Given the description of an element on the screen output the (x, y) to click on. 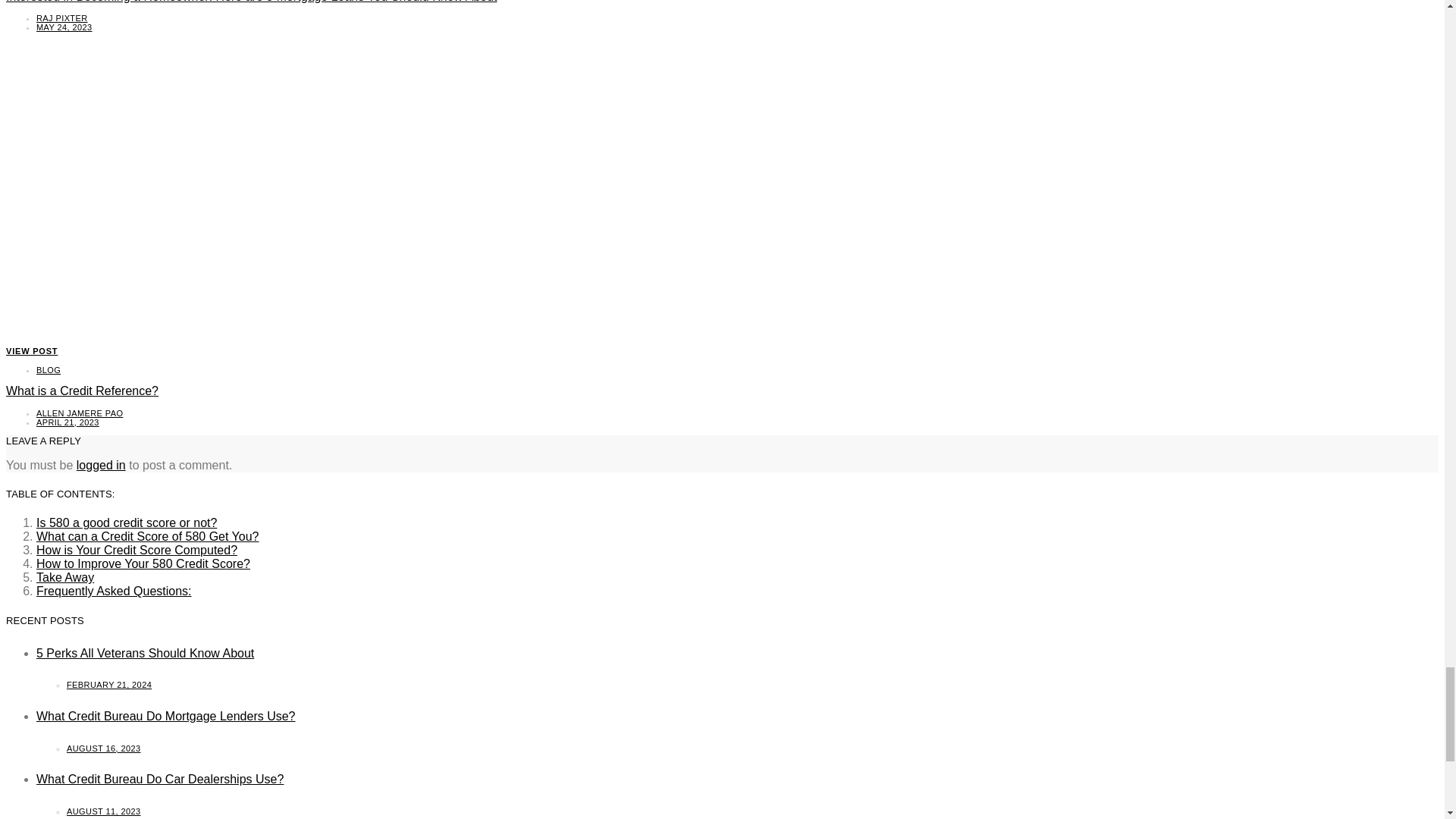
View all posts by Allen Jamere Pao (79, 412)
View all posts by Raj Pixter (61, 17)
